Given the description of an element on the screen output the (x, y) to click on. 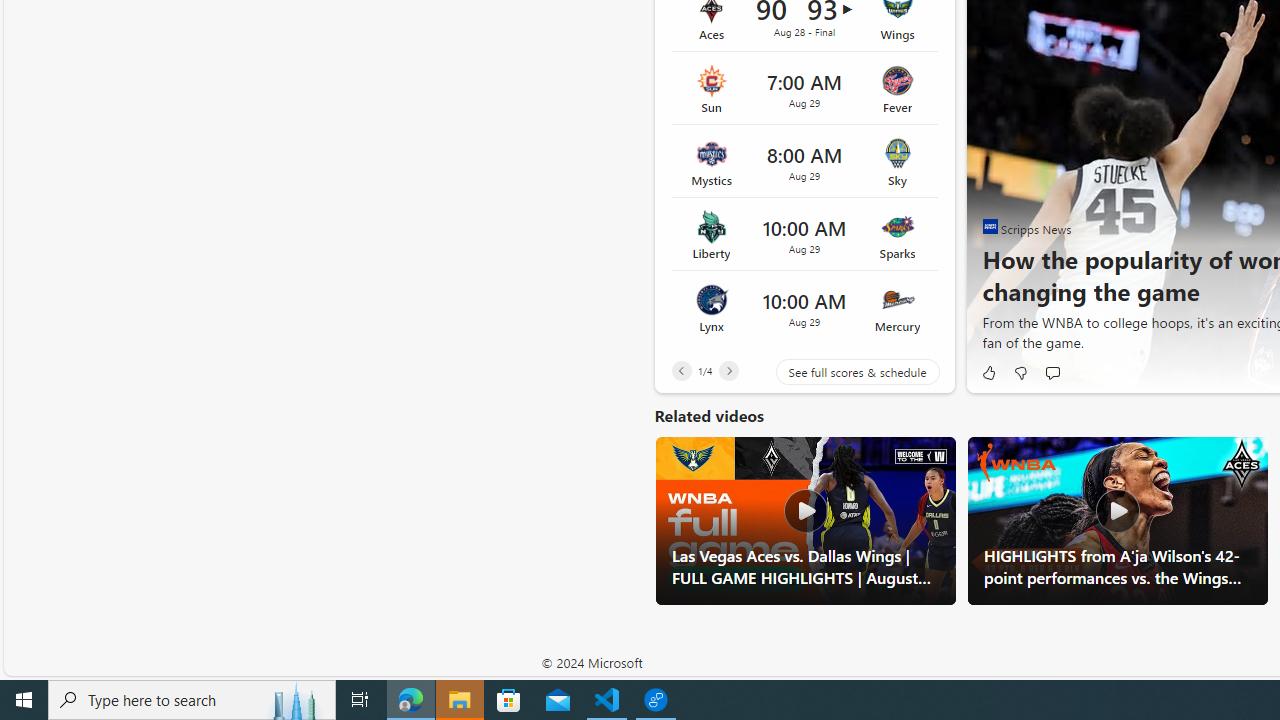
Previous (681, 370)
Mystics vs Sky Time 8:00 AM Date Aug 29 (804, 161)
